Given the description of an element on the screen output the (x, y) to click on. 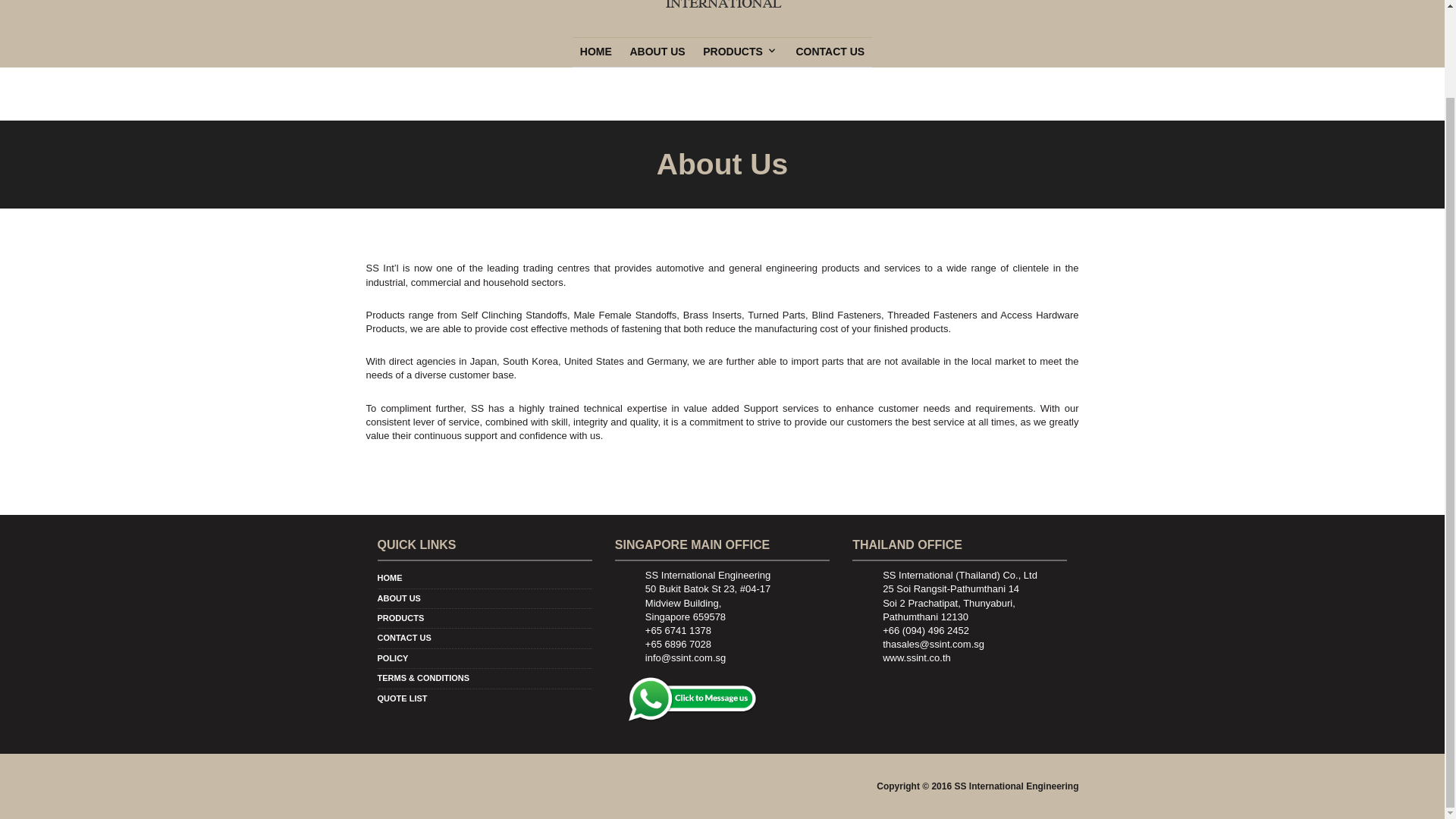
HOME (390, 577)
HOME (596, 51)
PRODUCTS (736, 51)
POLICY (393, 657)
CONTACT US (829, 51)
ABOUT US (398, 597)
PRODUCTS (401, 617)
ABOUT US (657, 51)
CONTACT US (403, 637)
QUOTE LIST (402, 697)
